Given the description of an element on the screen output the (x, y) to click on. 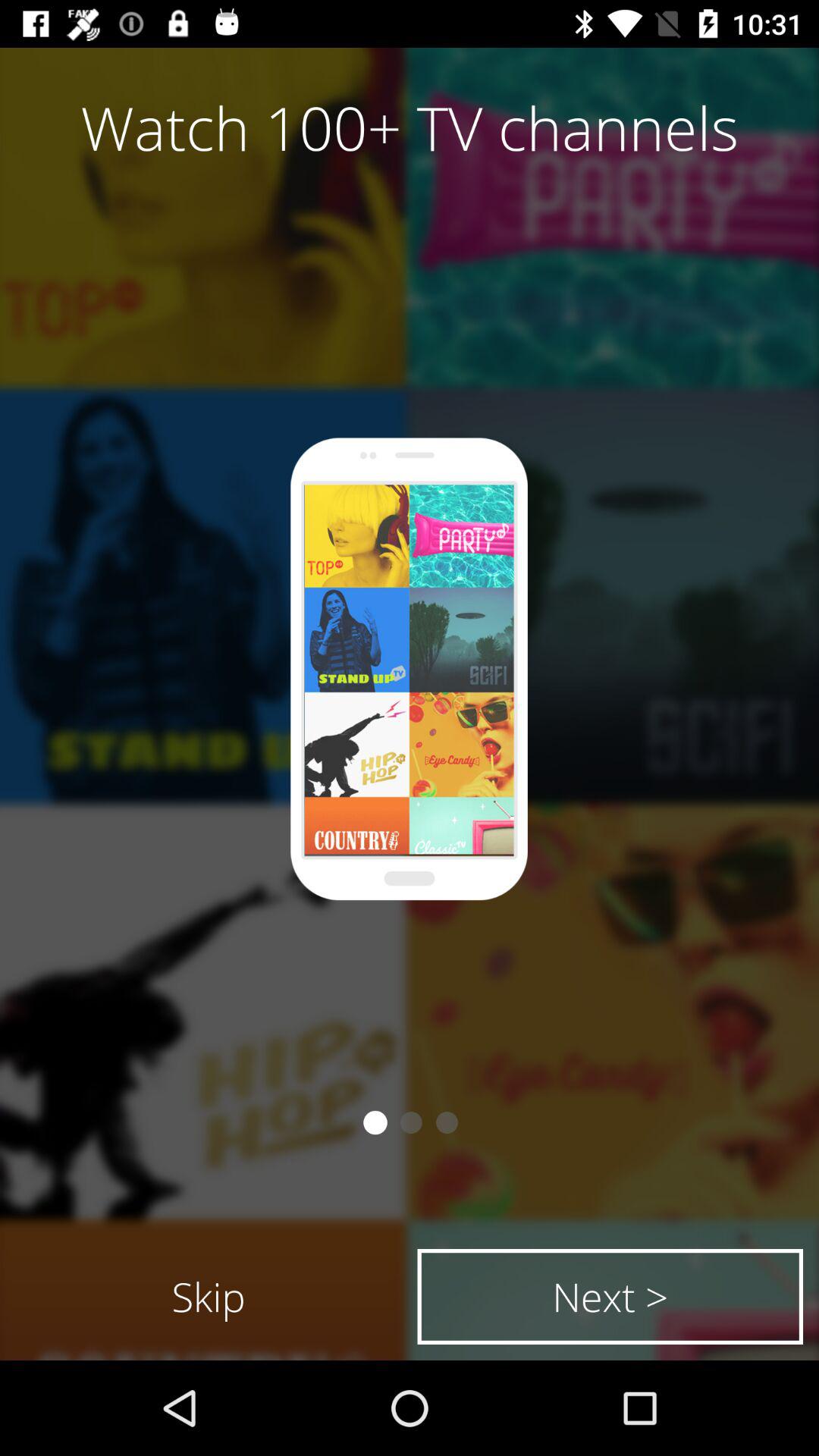
press the skip (208, 1296)
